Given the description of an element on the screen output the (x, y) to click on. 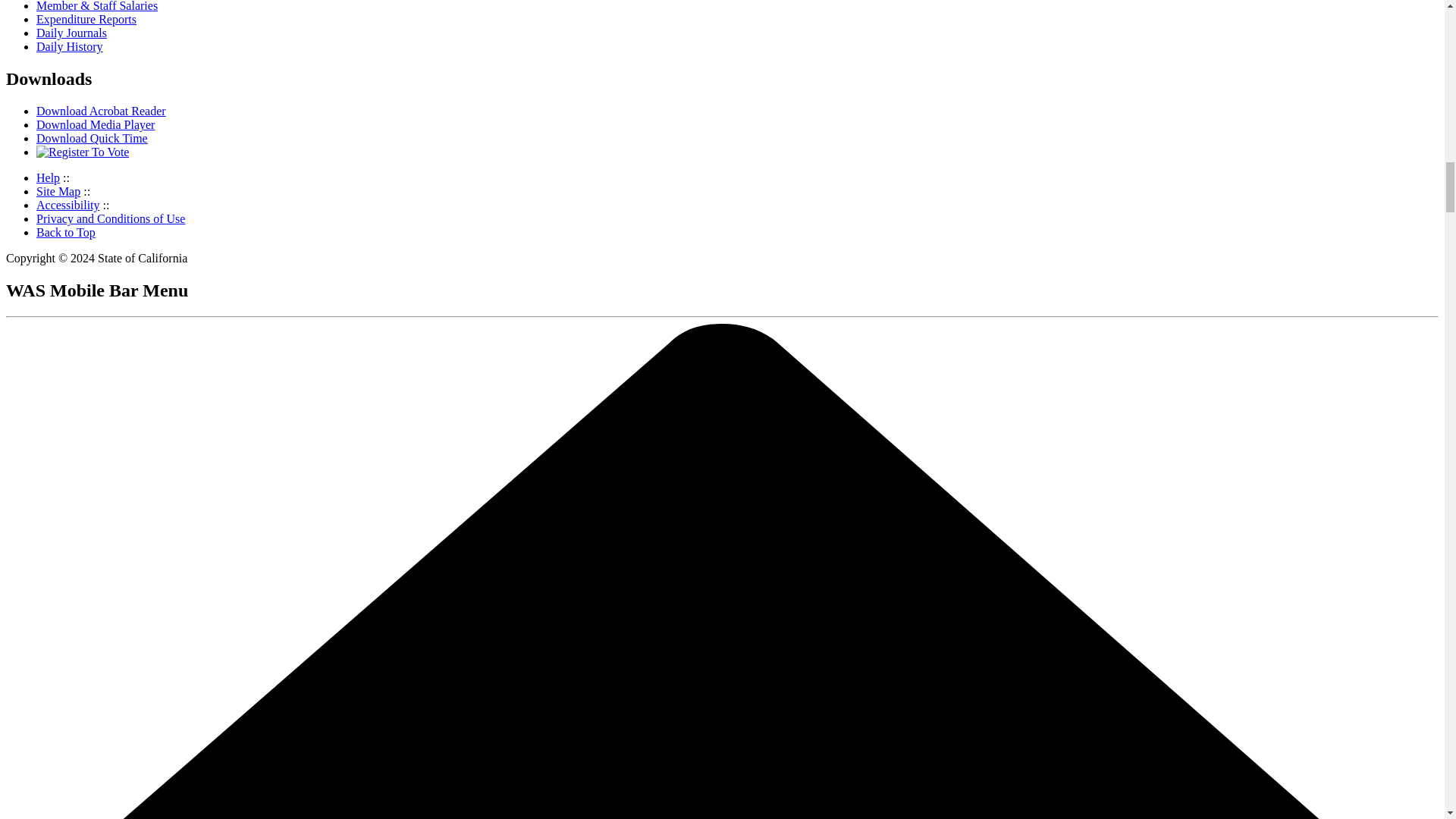
Help (47, 177)
Site Map (58, 191)
Back to Top (66, 232)
Privacy and Conditions of Use (110, 218)
